Given the description of an element on the screen output the (x, y) to click on. 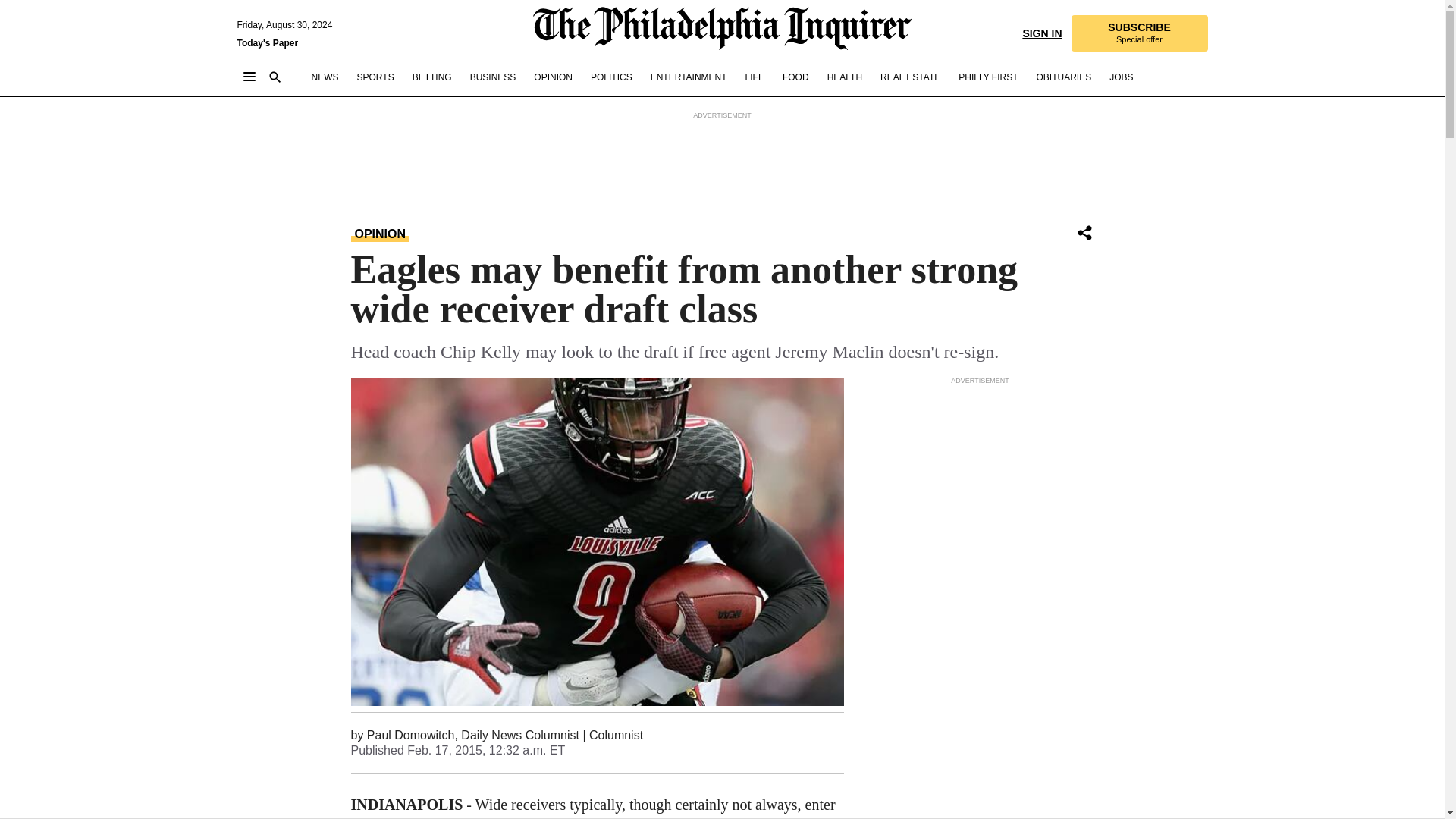
OBITUARIES (1062, 77)
FOOD (796, 77)
SIGN IN (1041, 32)
OPINION (553, 77)
Share Icon (1084, 233)
JOBS (1120, 77)
Today's Paper (266, 42)
BETTING (431, 77)
PHILLY FIRST (987, 77)
Share Icon (1084, 232)
